Given the description of an element on the screen output the (x, y) to click on. 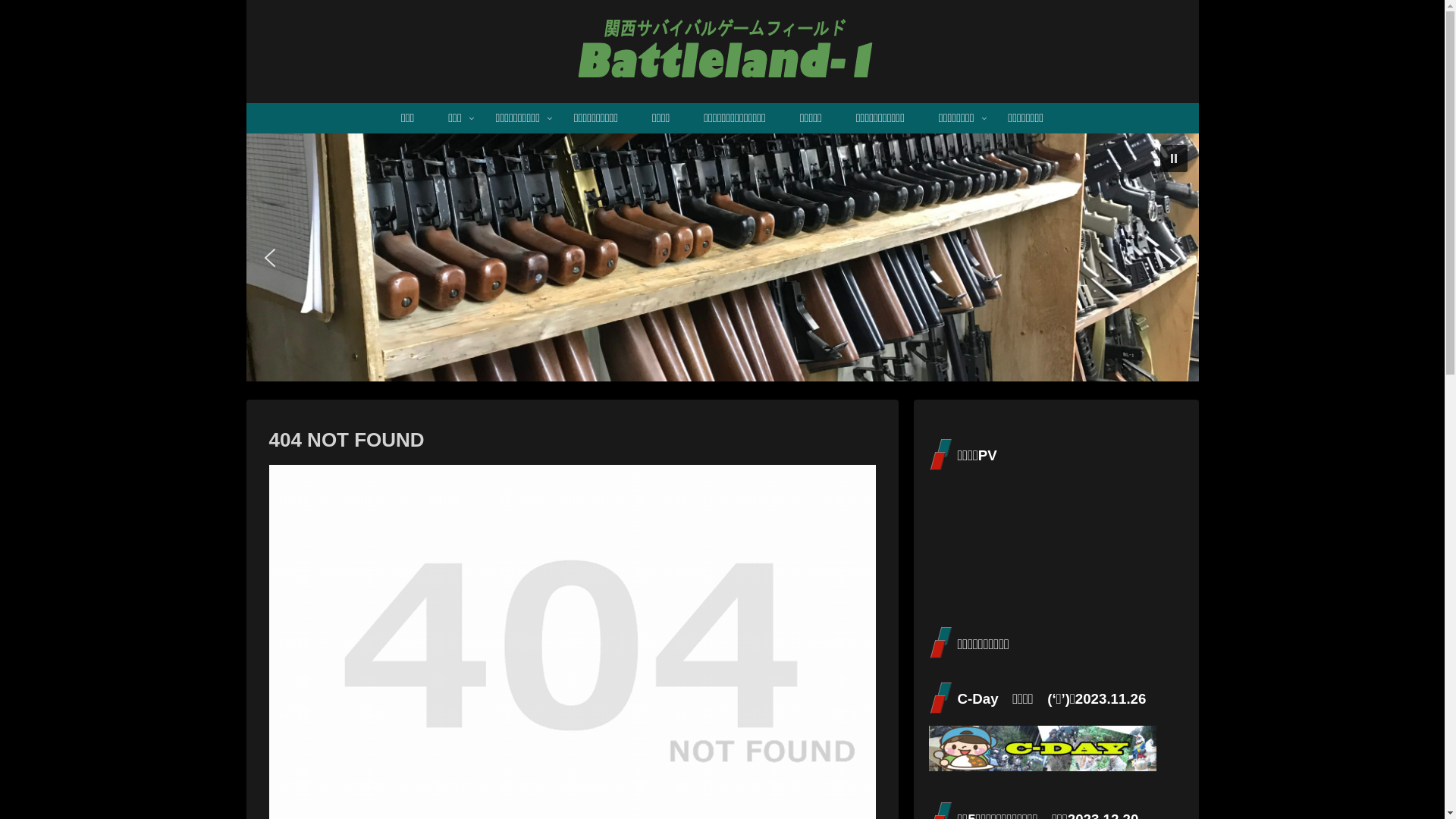
YouTube video player Element type: hover (1041, 539)
